Given the description of an element on the screen output the (x, y) to click on. 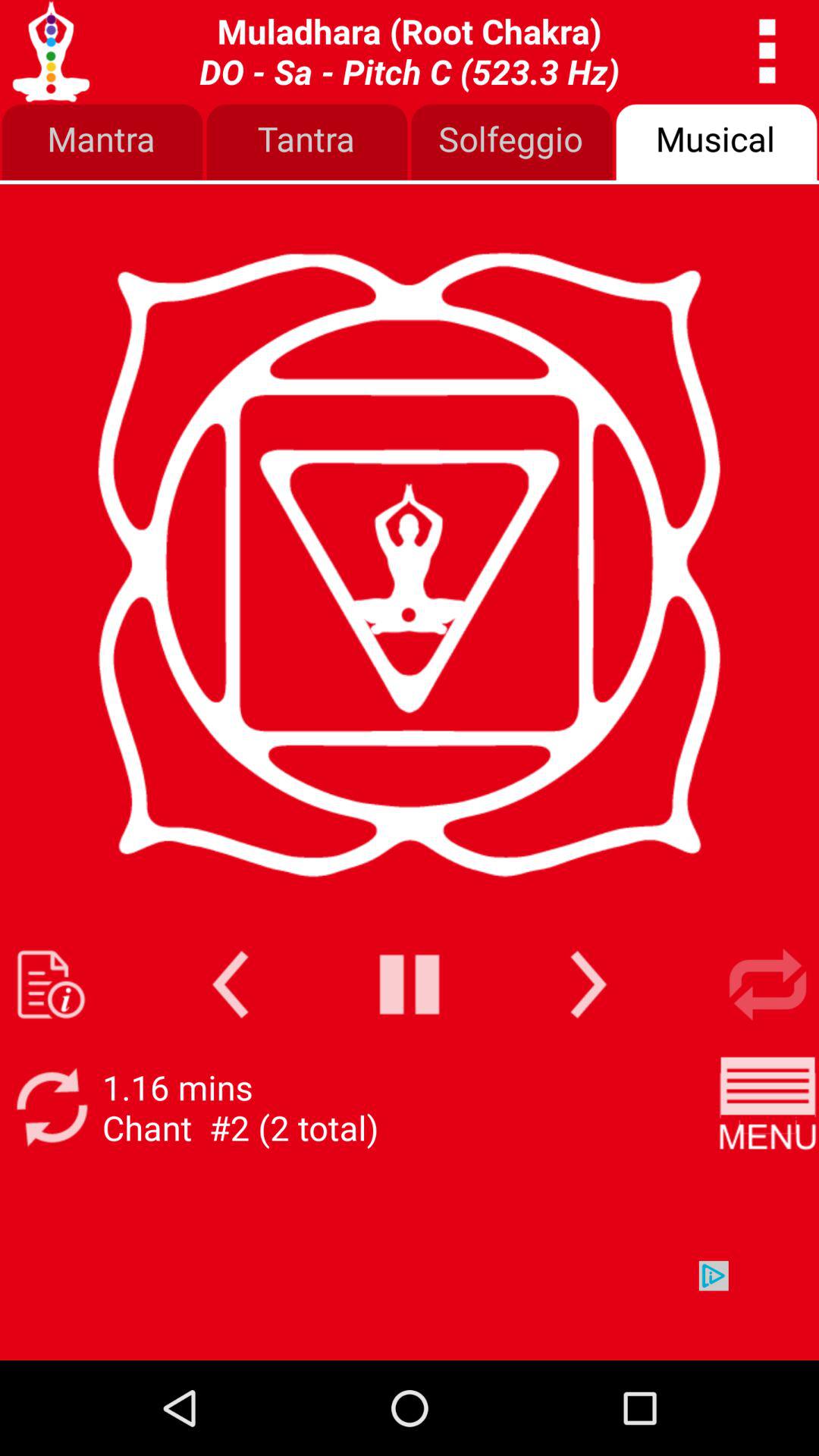
pause (409, 984)
